Given the description of an element on the screen output the (x, y) to click on. 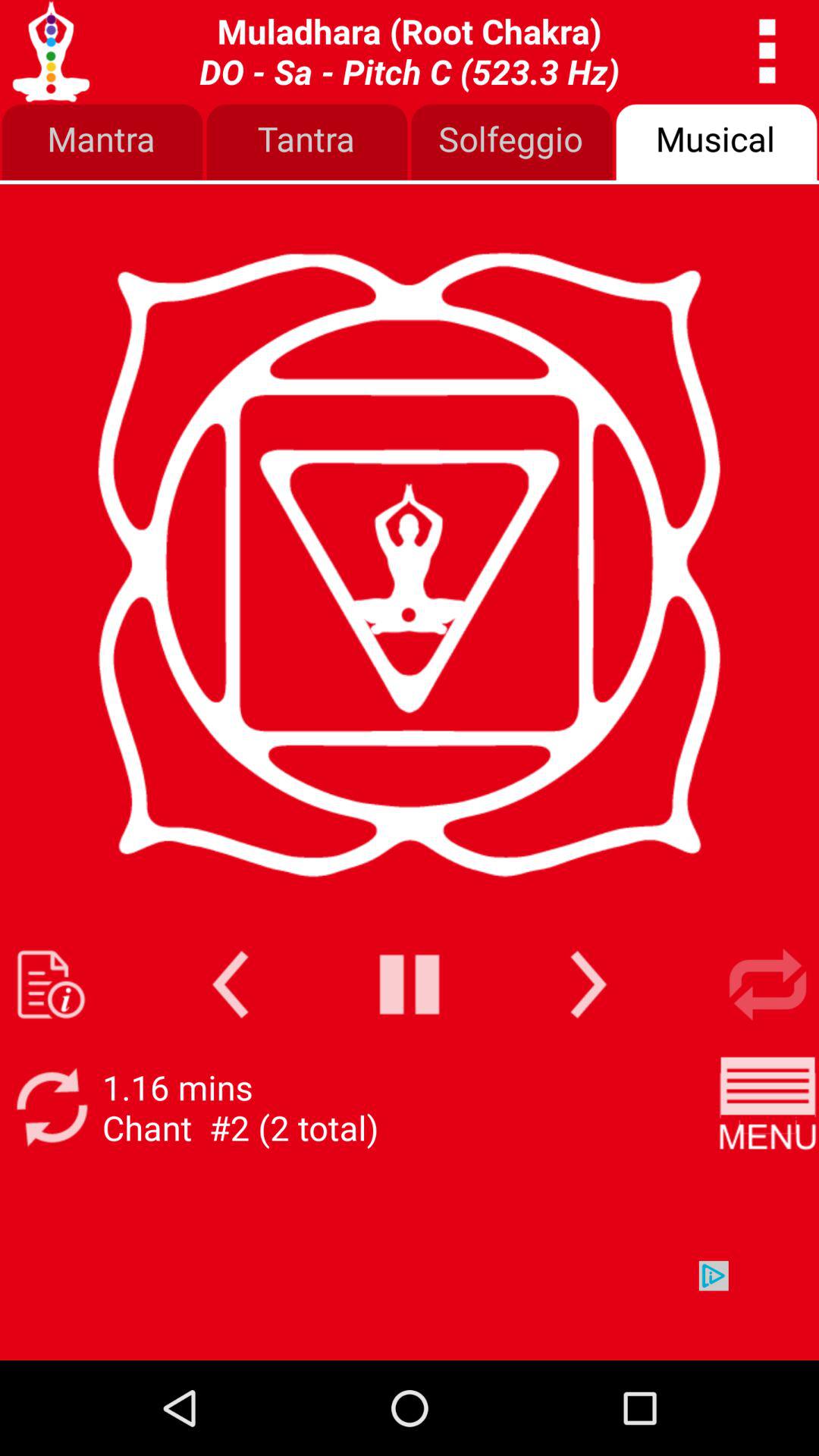
pause (409, 984)
